Given the description of an element on the screen output the (x, y) to click on. 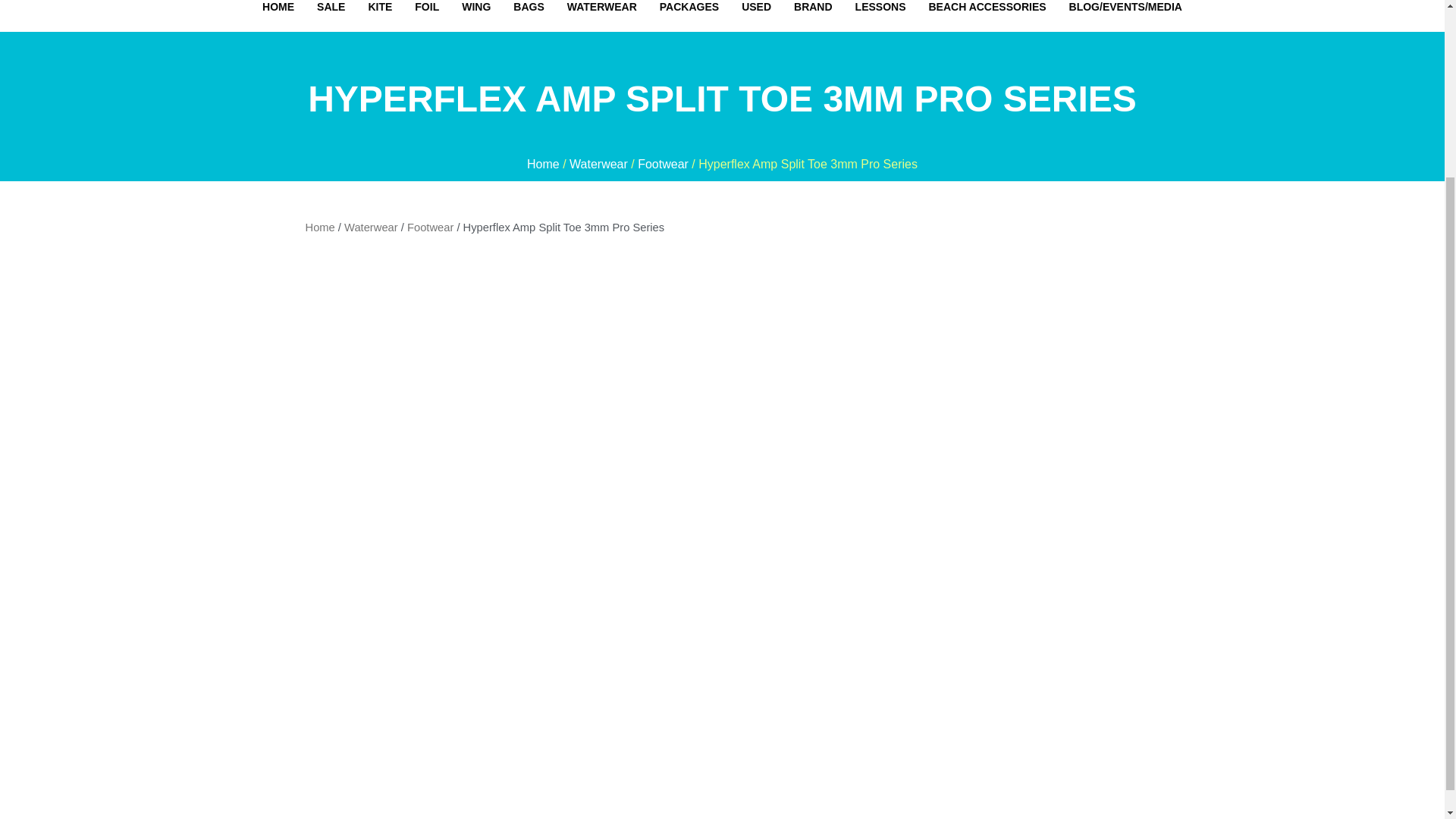
HOME (277, 12)
KITE (379, 12)
SALE (330, 12)
